Given the description of an element on the screen output the (x, y) to click on. 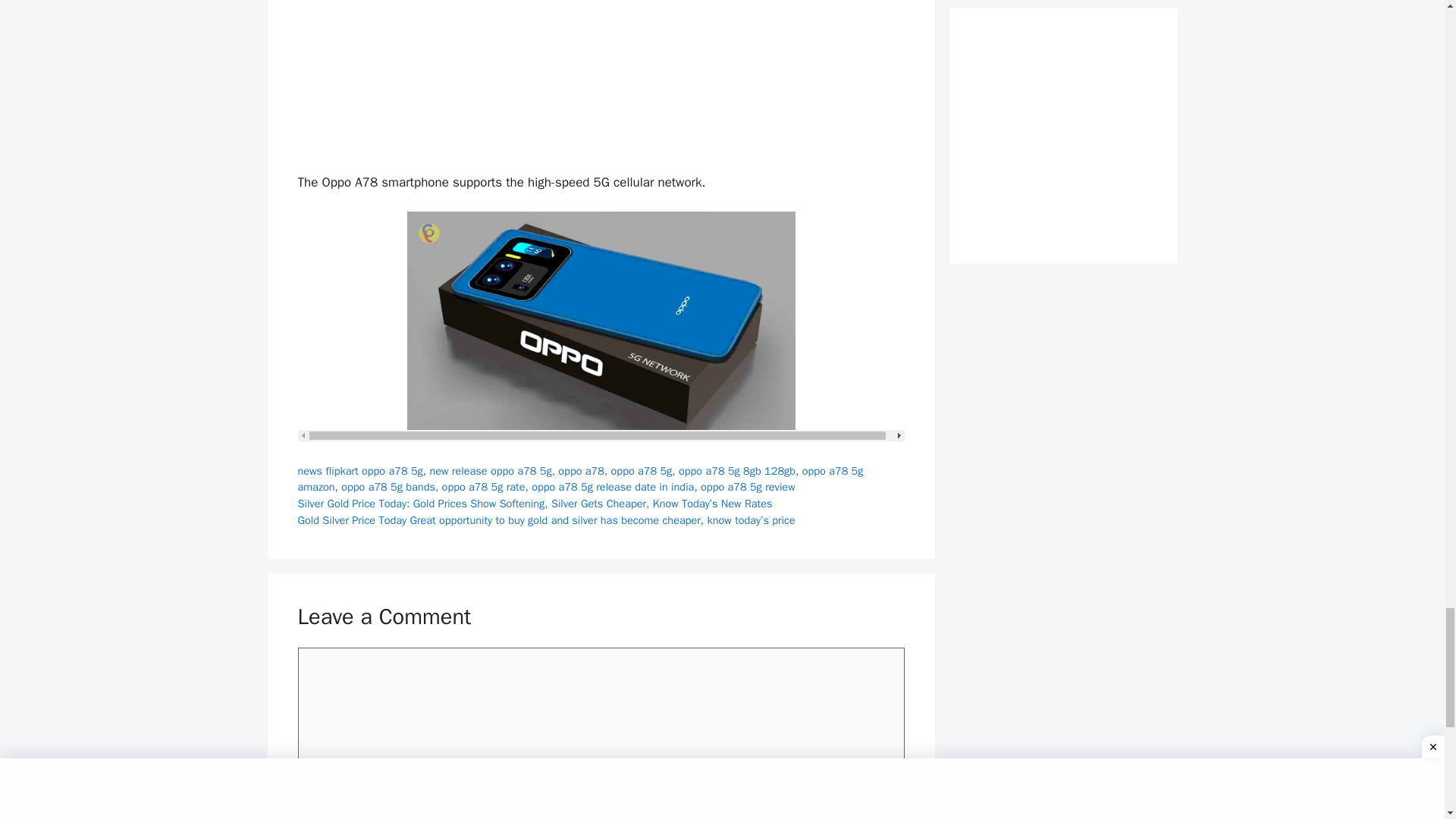
oppo a78 5g amazon (580, 479)
oppo a78 5g review (747, 486)
oppo a78 (580, 470)
oppo a78 5g (641, 470)
oppo a78 5g rate (483, 486)
oppo a78 5g 8gb 128gb (736, 470)
new release oppo a78 5g (490, 470)
oppo a78 5g release date in india (612, 486)
oppo a78 5g bands (387, 486)
news (309, 470)
